Given the description of an element on the screen output the (x, y) to click on. 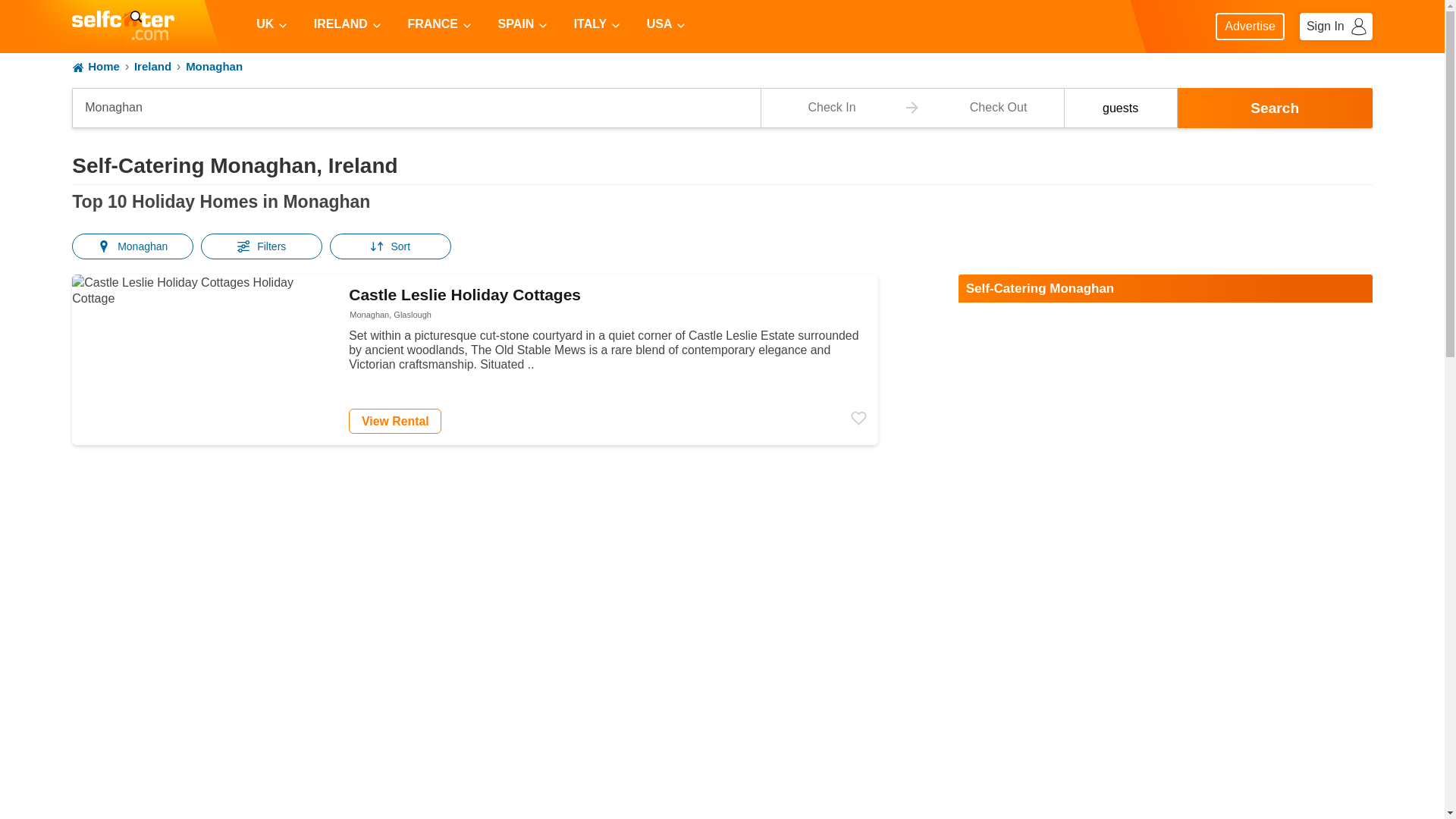
Monaghan (722, 66)
Self Catering Holiday Cottages (415, 107)
Self Catering Holiday Cottages (122, 26)
Self Catering Holiday Cottages (122, 26)
